Given the description of an element on the screen output the (x, y) to click on. 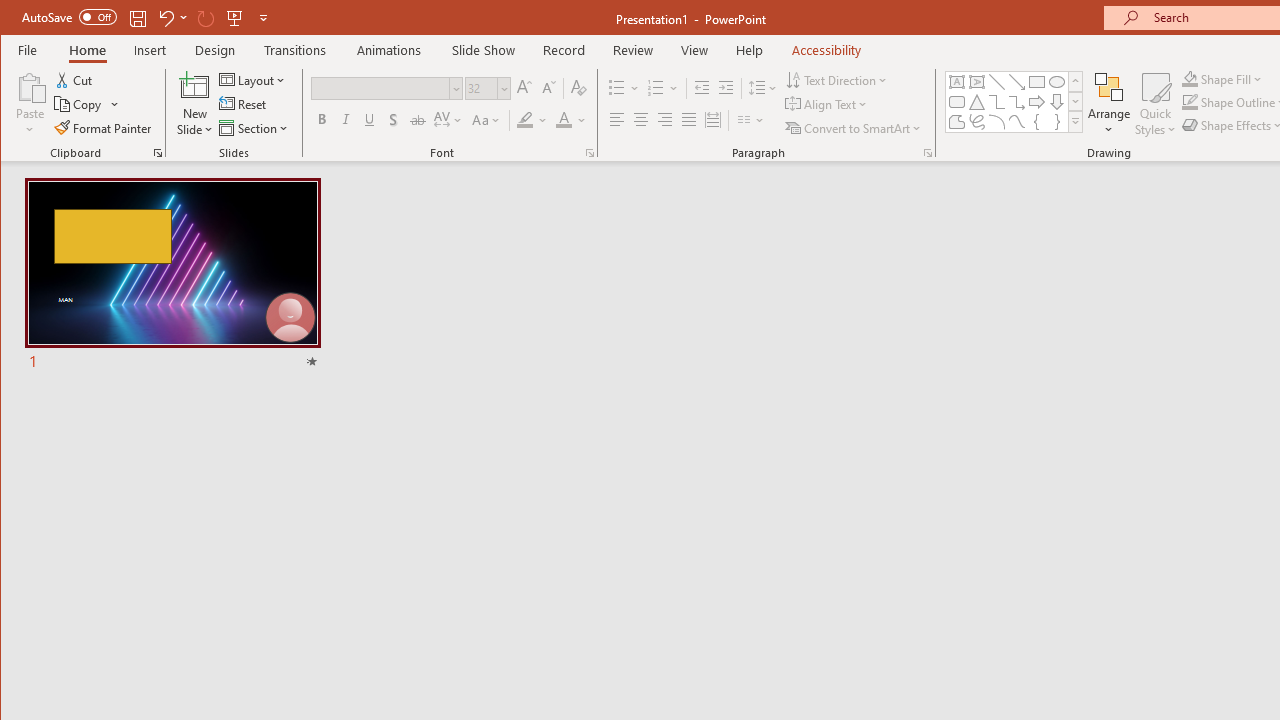
AutomationID: ShapesInsertGallery (1014, 102)
Isosceles Triangle (976, 102)
Left Brace (1036, 121)
Shapes (1074, 121)
Line Arrow (1016, 82)
Office Clipboard... (157, 152)
Line Spacing (764, 88)
Text Highlight Color (532, 119)
Freeform: Scribble (976, 121)
Align Left (616, 119)
